Given the description of an element on the screen output the (x, y) to click on. 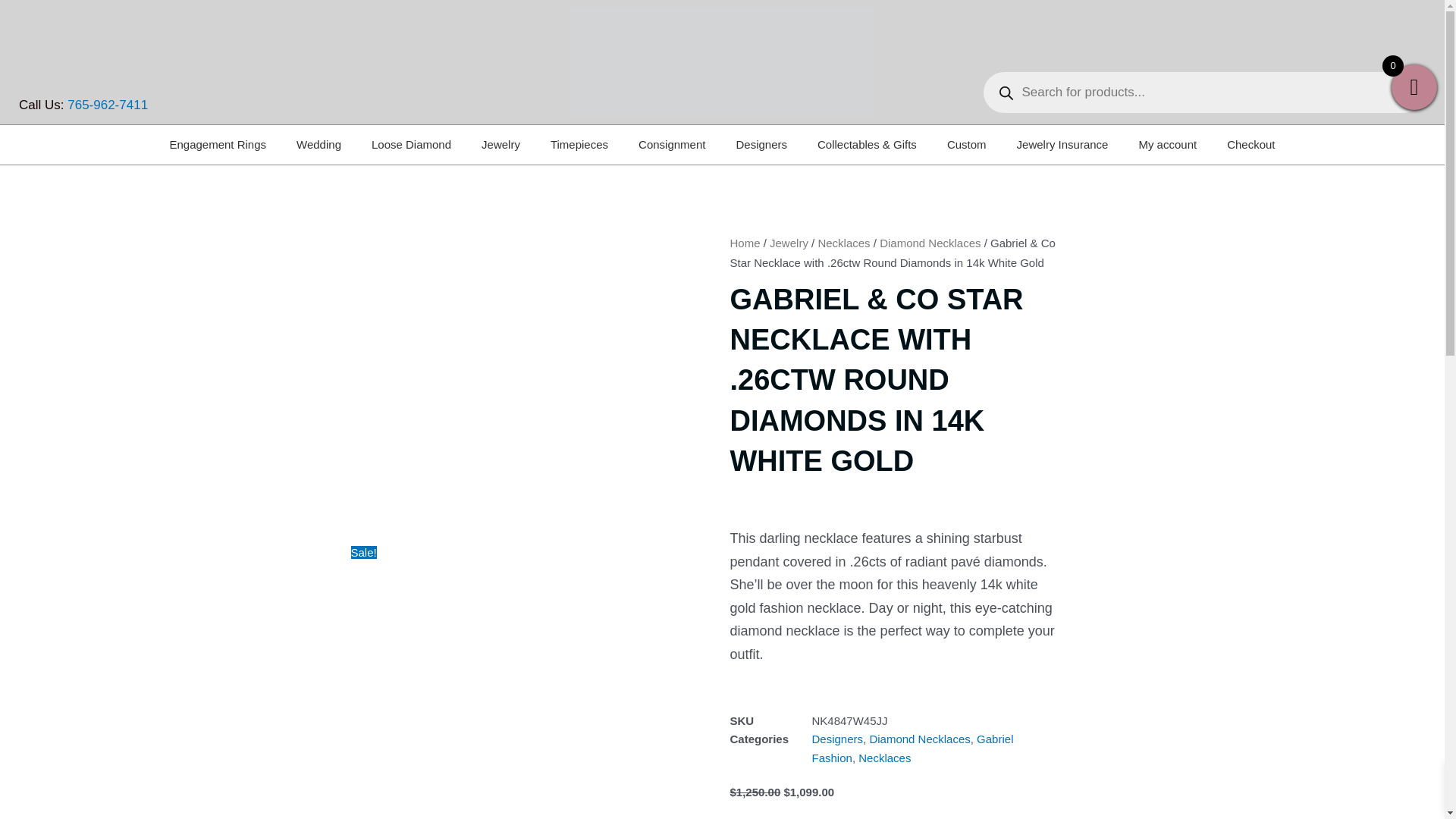
Loose Diamond (410, 144)
765-962-7411 (107, 104)
Wedding (318, 144)
Engagement Rings (217, 144)
Jewelry (500, 144)
